Given the description of an element on the screen output the (x, y) to click on. 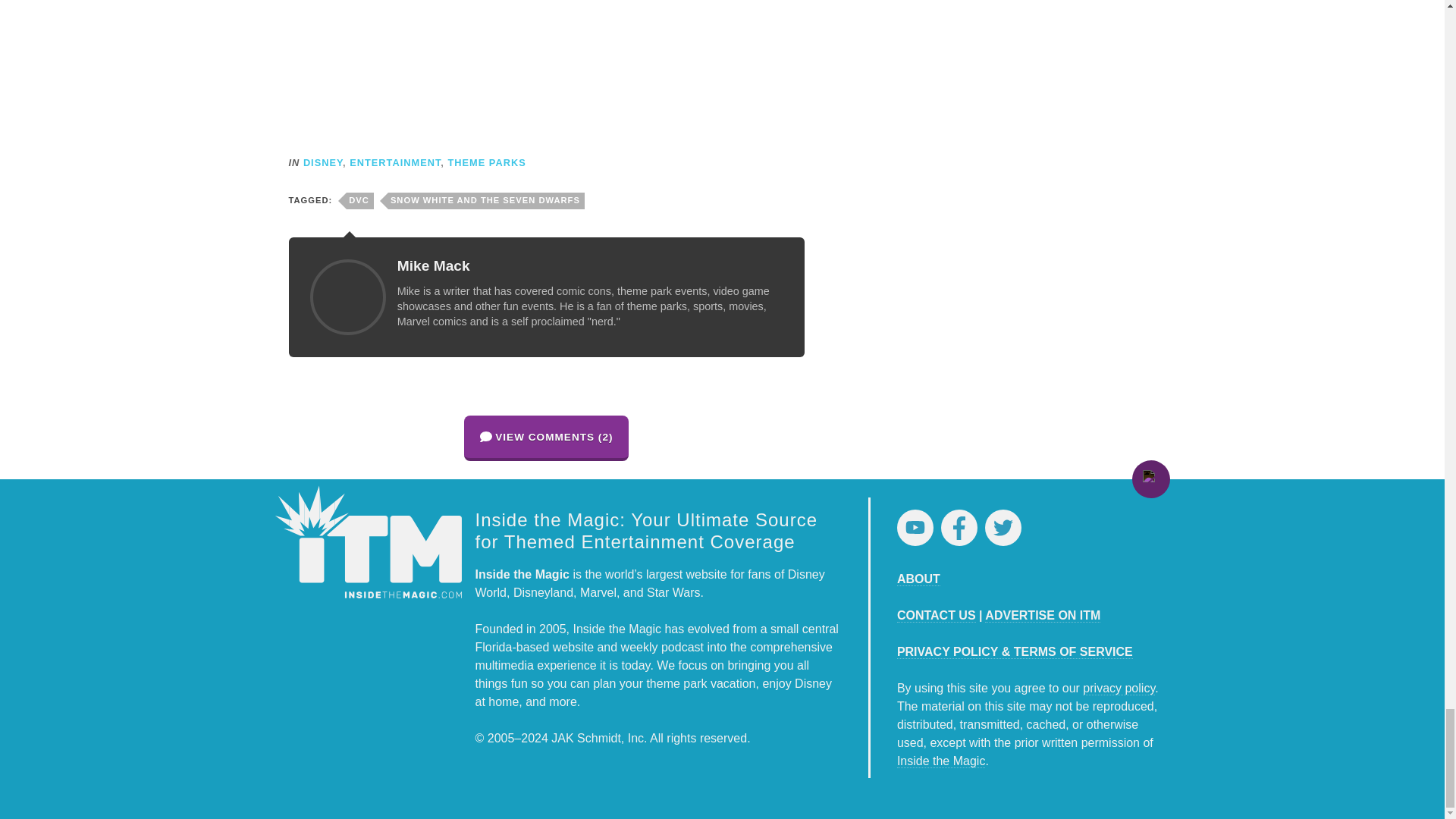
Return to Top (1150, 478)
